Given the description of an element on the screen output the (x, y) to click on. 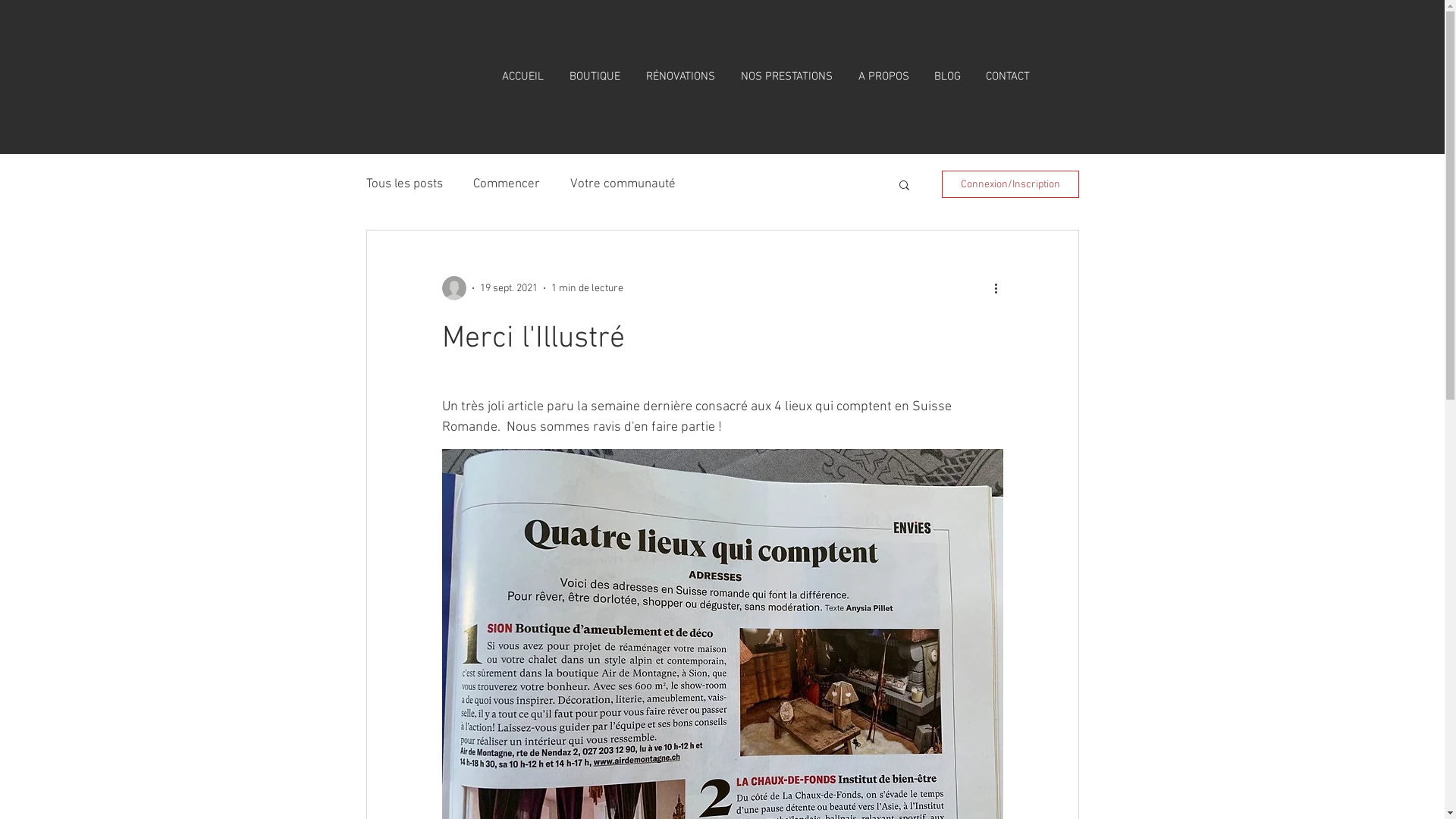
Connexion/Inscription Element type: text (1010, 183)
BLOG Element type: text (947, 76)
A PROPOS Element type: text (882, 76)
NOS PRESTATIONS Element type: text (786, 76)
BOUTIQUE Element type: text (594, 76)
ACCUEIL Element type: text (521, 76)
Tous les posts Element type: text (403, 183)
Commencer Element type: text (506, 183)
CONTACT Element type: text (1007, 76)
